Given the description of an element on the screen output the (x, y) to click on. 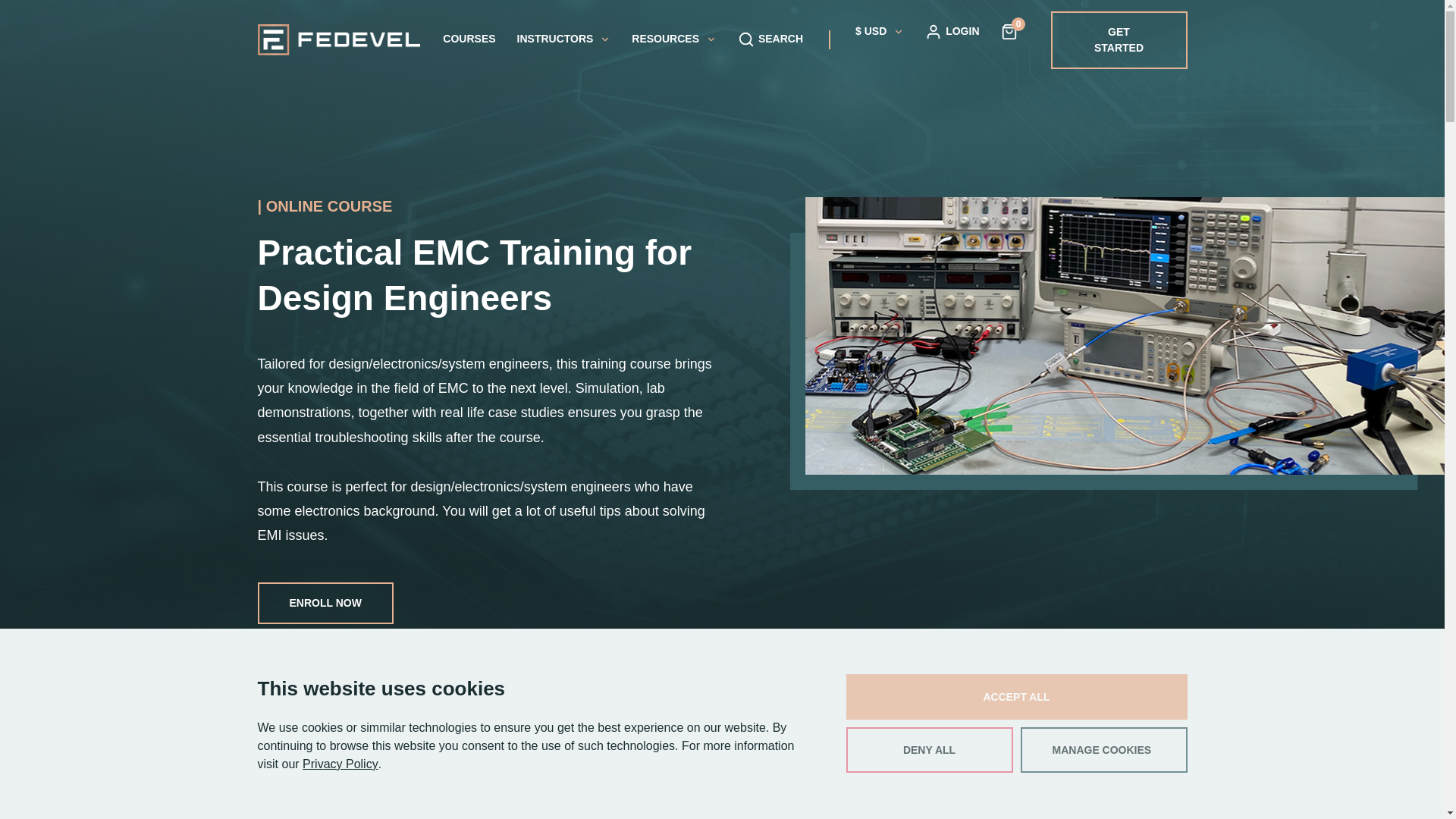
LOGIN (951, 30)
0 (1009, 30)
ACCEPT ALL (1016, 696)
INSTRUCTORS  (563, 38)
ENROLL NOW (325, 603)
Privacy Policy (340, 764)
DENY ALL (929, 750)
COURSES (468, 38)
RESOURCES  (673, 38)
SEARCH (770, 39)
